Given the description of an element on the screen output the (x, y) to click on. 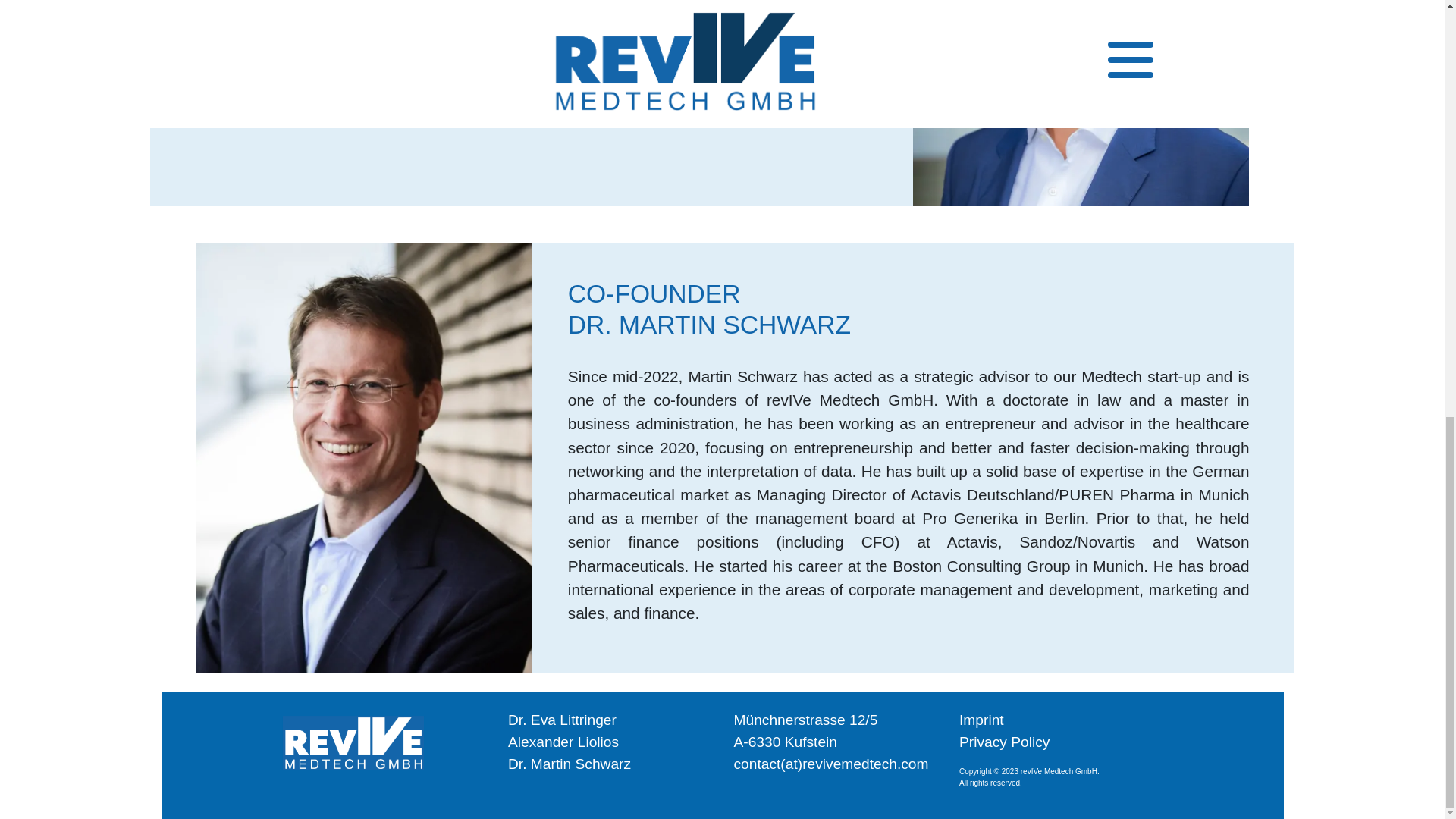
Alexander Liolios (563, 780)
Dr. Martin Schwarz (569, 797)
Privacy Policy (1004, 741)
Imprint (981, 719)
Dr. Eva Littringer (561, 763)
